Given the description of an element on the screen output the (x, y) to click on. 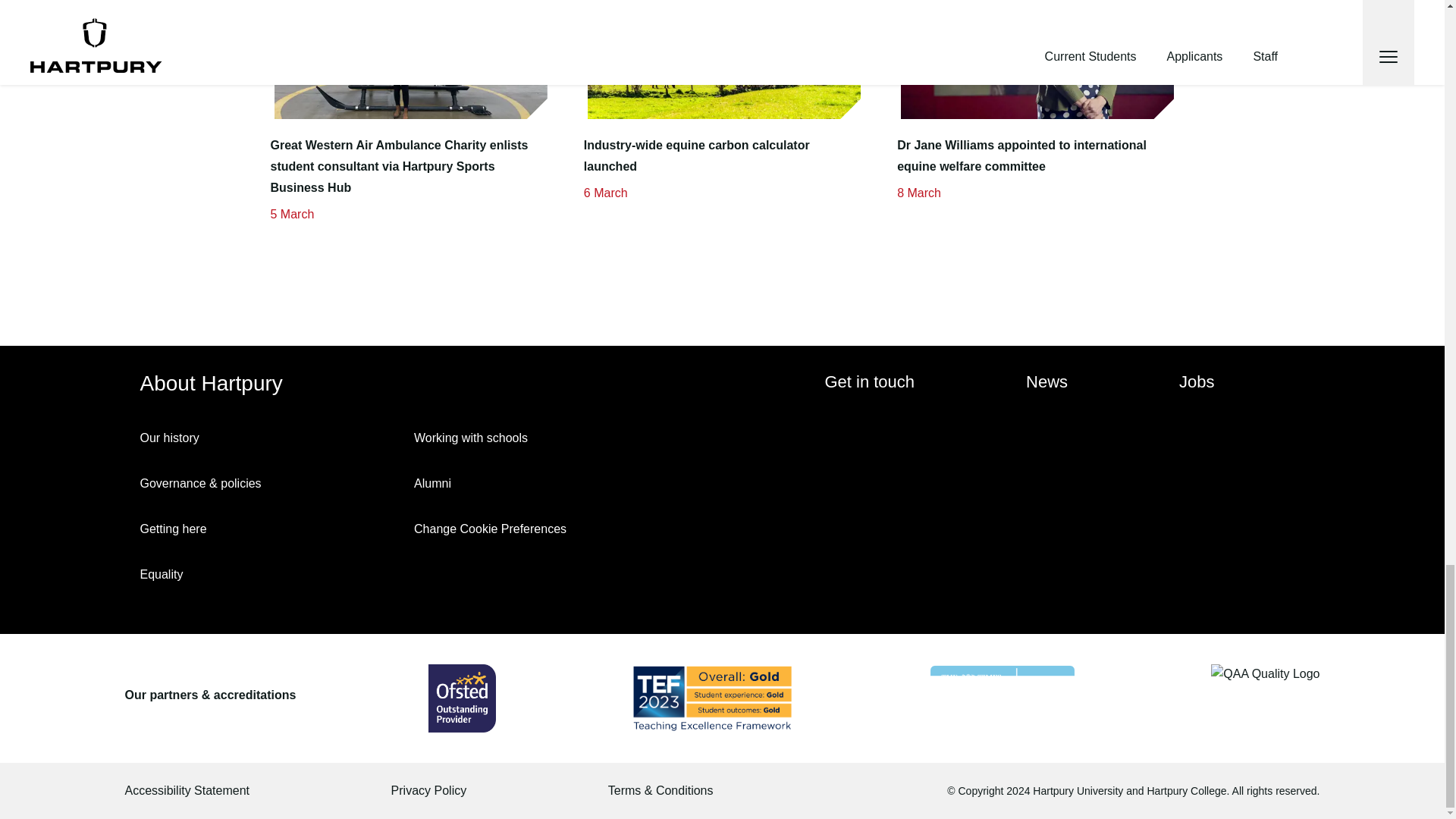
Industry-wide equine carbon calculator launched (721, 156)
Our history (270, 437)
About Hartpury (216, 383)
